Given the description of an element on the screen output the (x, y) to click on. 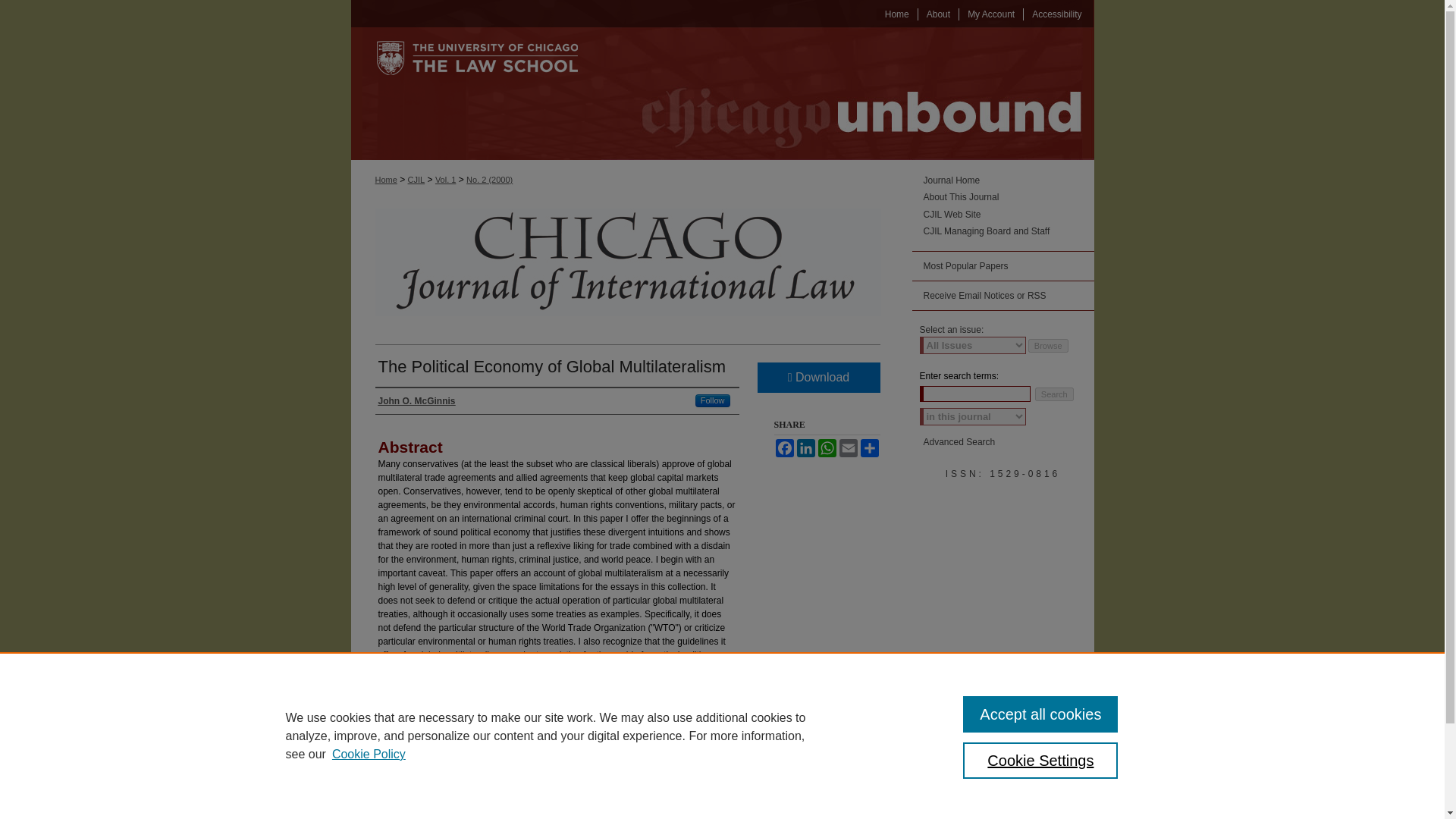
About this Journal (1008, 196)
About (938, 14)
My Account (991, 14)
Chicago Unbound (846, 93)
CJIL Web Site (1008, 214)
Accessibility (1056, 14)
LinkedIn (804, 447)
Advanced Search (959, 441)
Share (869, 447)
Home (897, 14)
Vol. 1 (446, 179)
Search (1054, 394)
Follow John O. McGinnis (712, 400)
Home (897, 14)
Receive Email Notices or RSS (1002, 296)
